Given the description of an element on the screen output the (x, y) to click on. 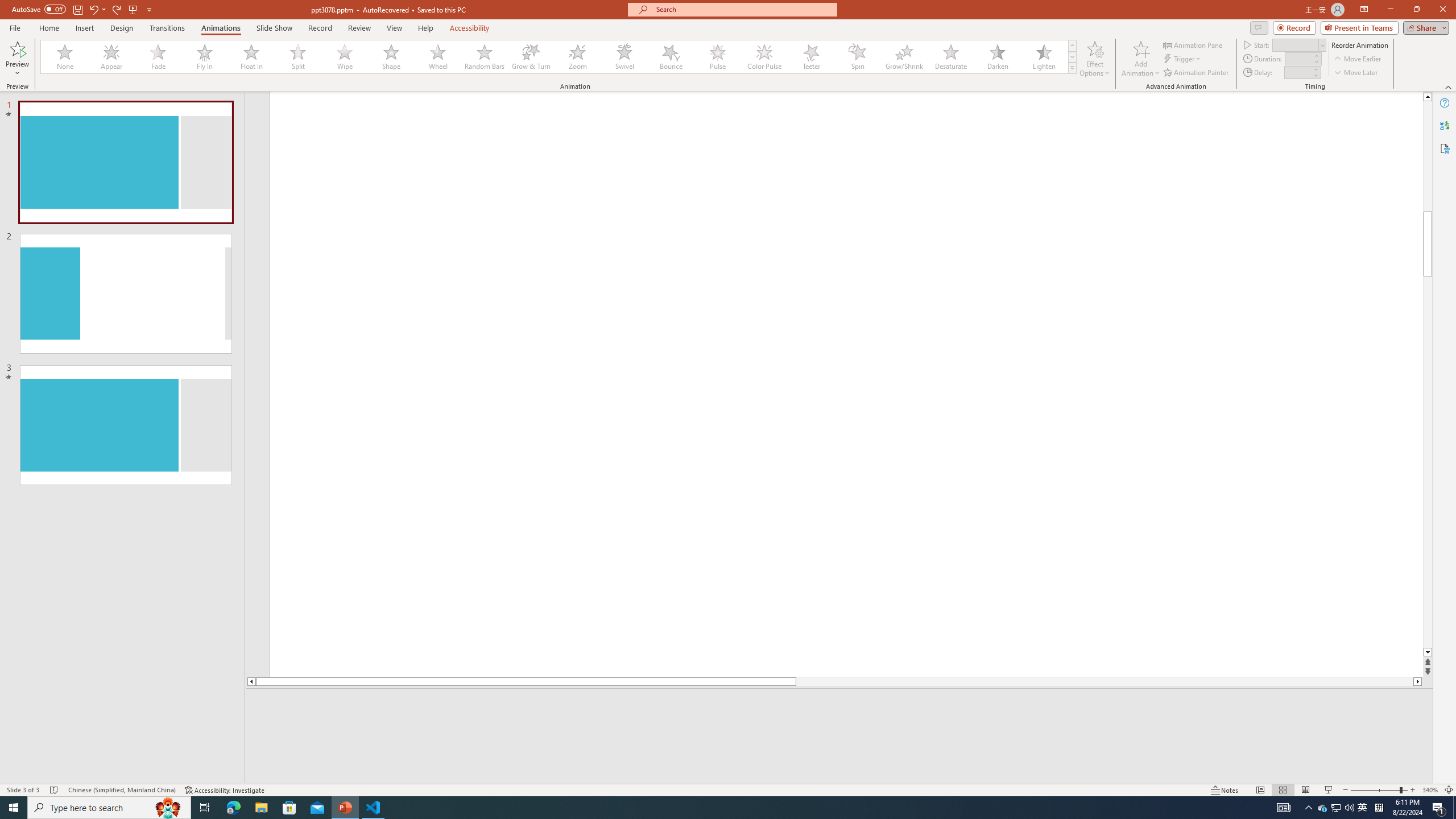
Animation Duration (1298, 58)
Bounce (670, 56)
Lighten (1043, 56)
